Given the description of an element on the screen output the (x, y) to click on. 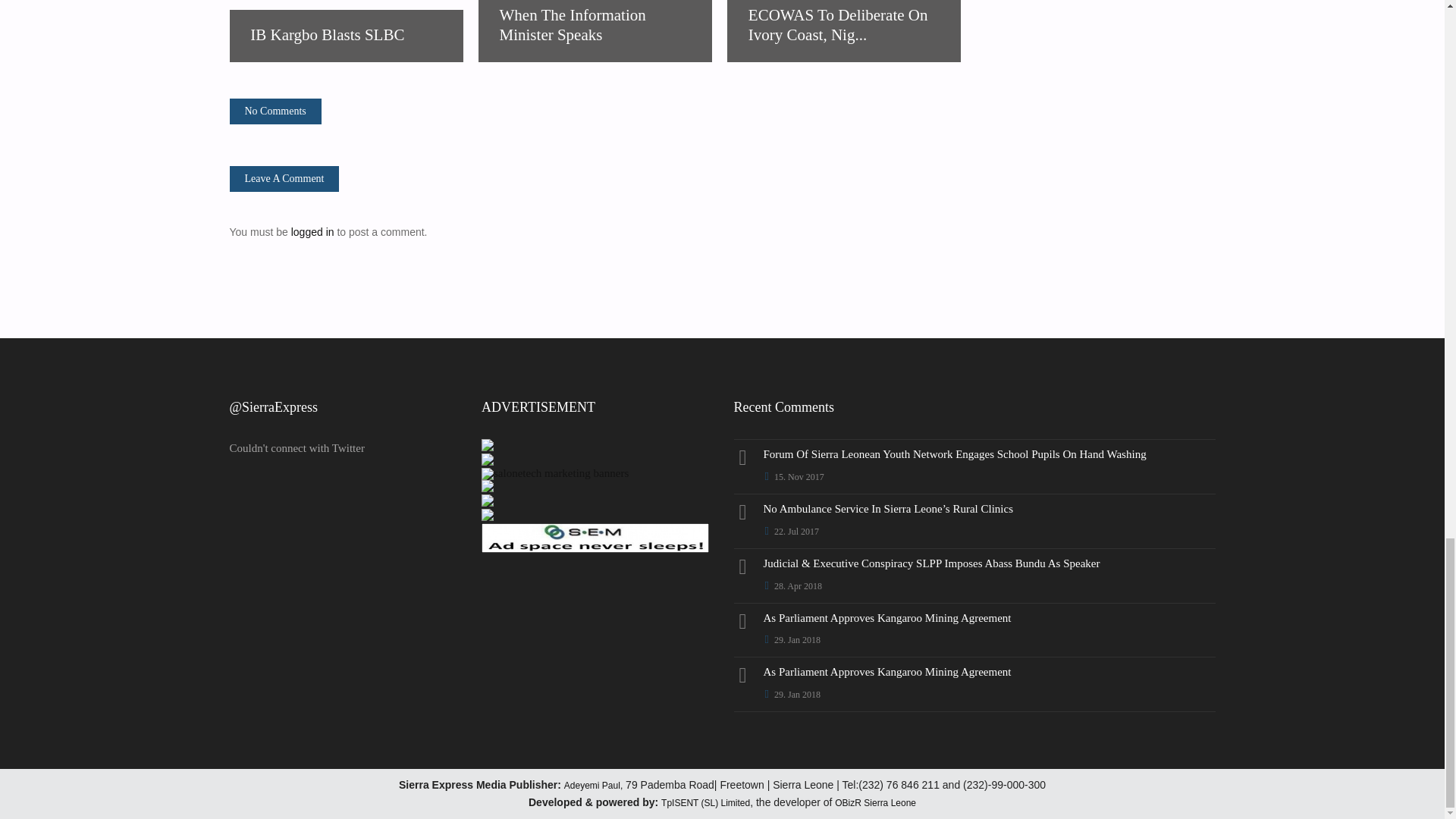
Internet Programming Solutions - A SaloneTech Company (487, 447)
